Given the description of an element on the screen output the (x, y) to click on. 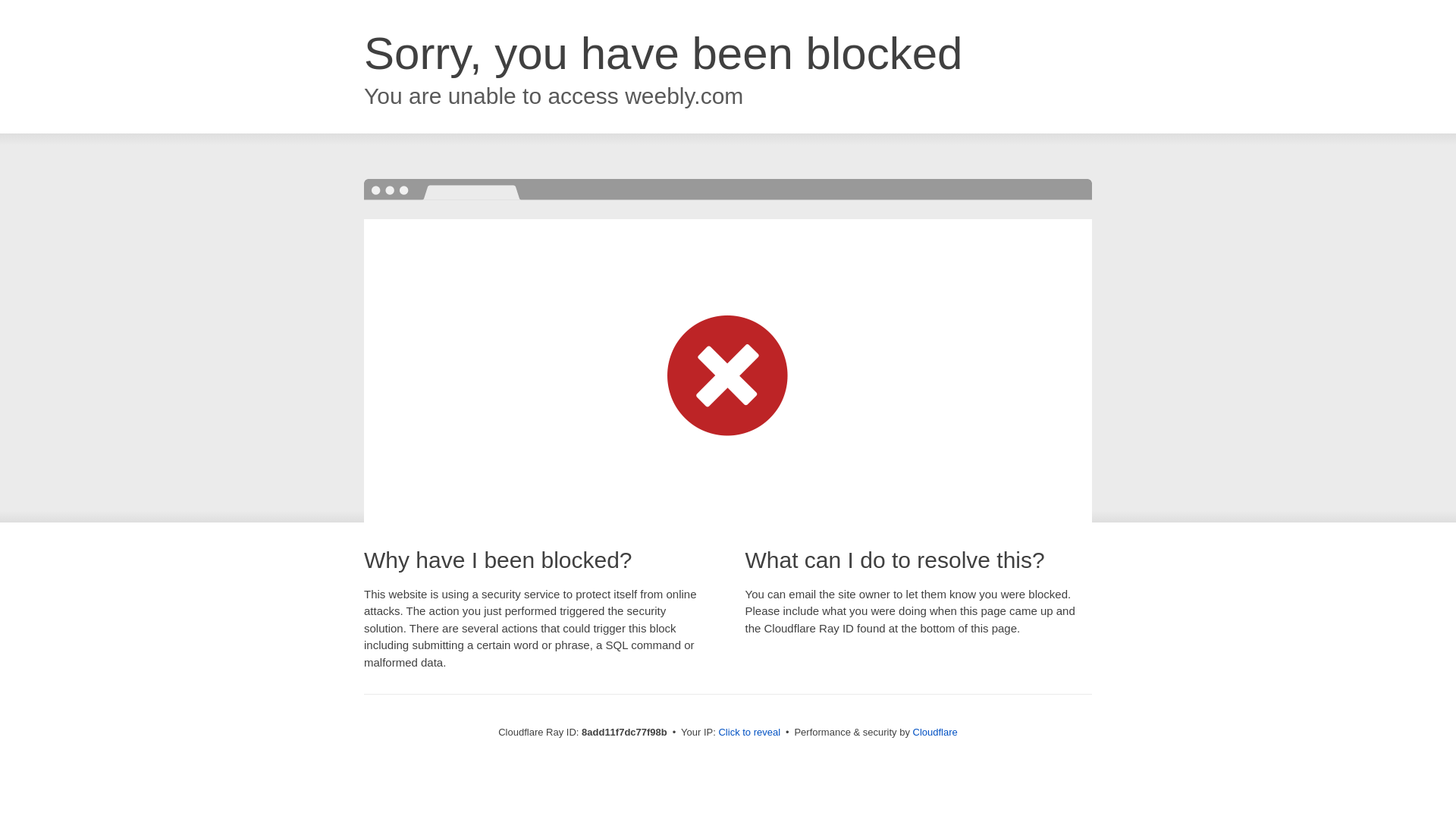
Click to reveal (748, 732)
Cloudflare (935, 731)
